Given the description of an element on the screen output the (x, y) to click on. 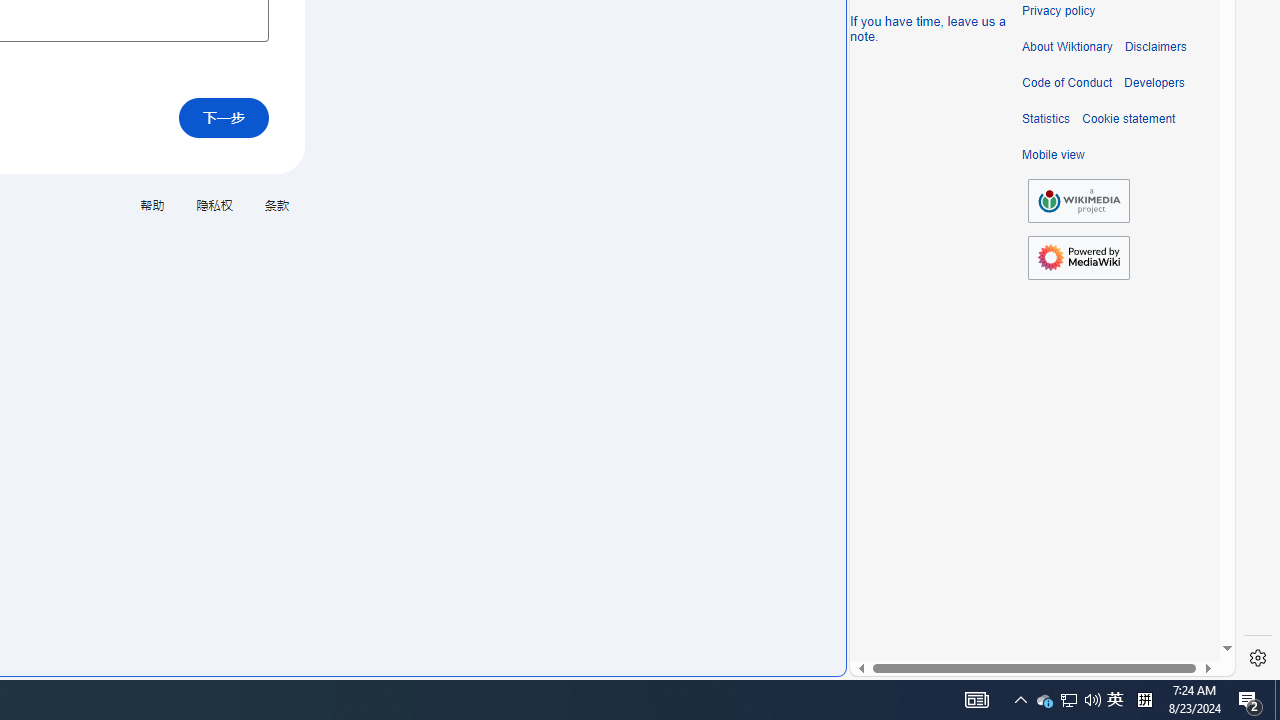
AutomationID: footer-poweredbyico (1078, 257)
Disclaimers (1154, 47)
Powered by MediaWiki (1078, 257)
Statistics (1046, 119)
If you have time, leave us a note. (927, 27)
Statistics (1046, 119)
Code of Conduct (1067, 83)
Code of Conduct (1067, 83)
Developers (1154, 83)
